Given the description of an element on the screen output the (x, y) to click on. 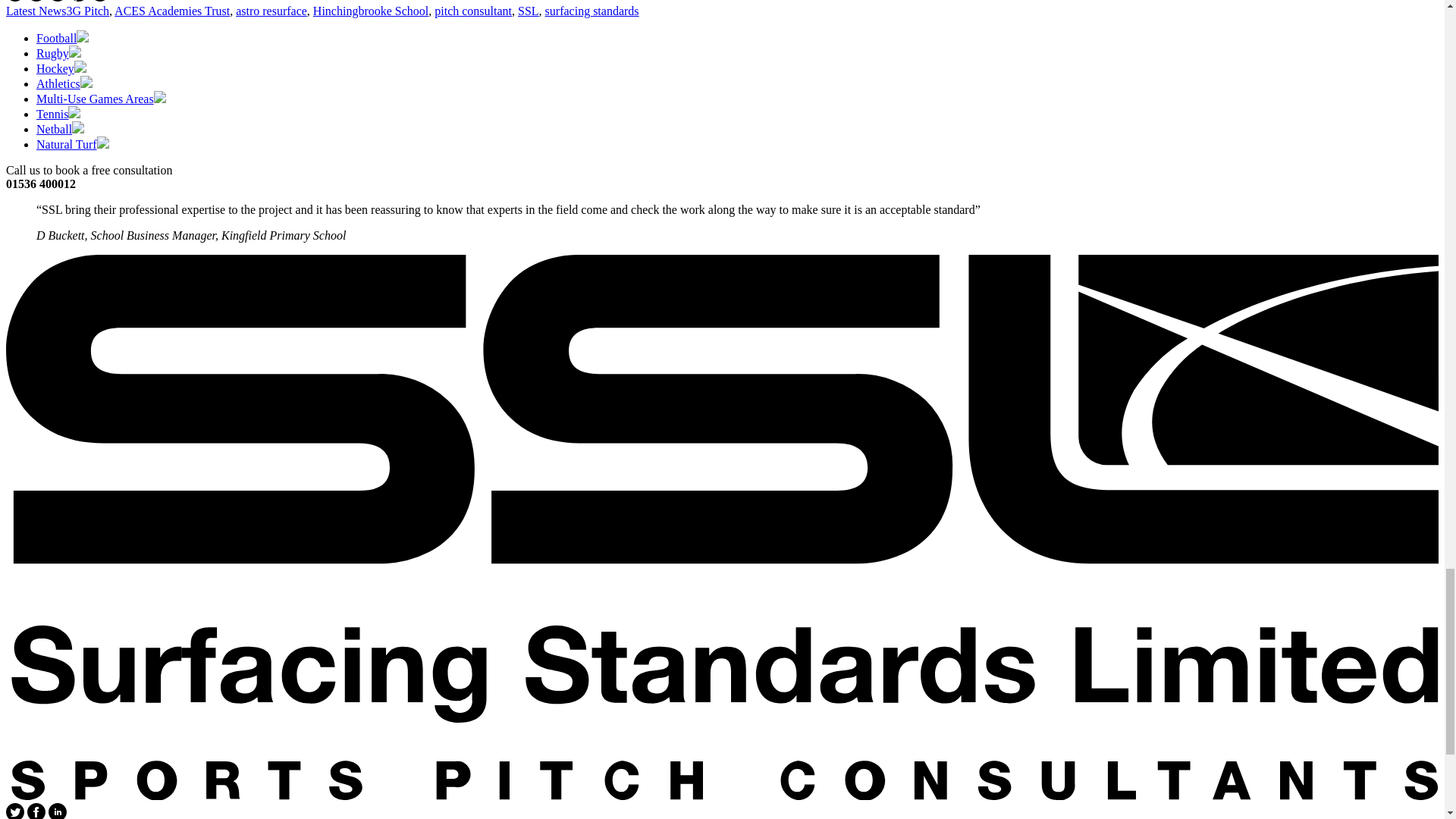
3G Pitch (87, 10)
Latest News (35, 10)
